Given the description of an element on the screen output the (x, y) to click on. 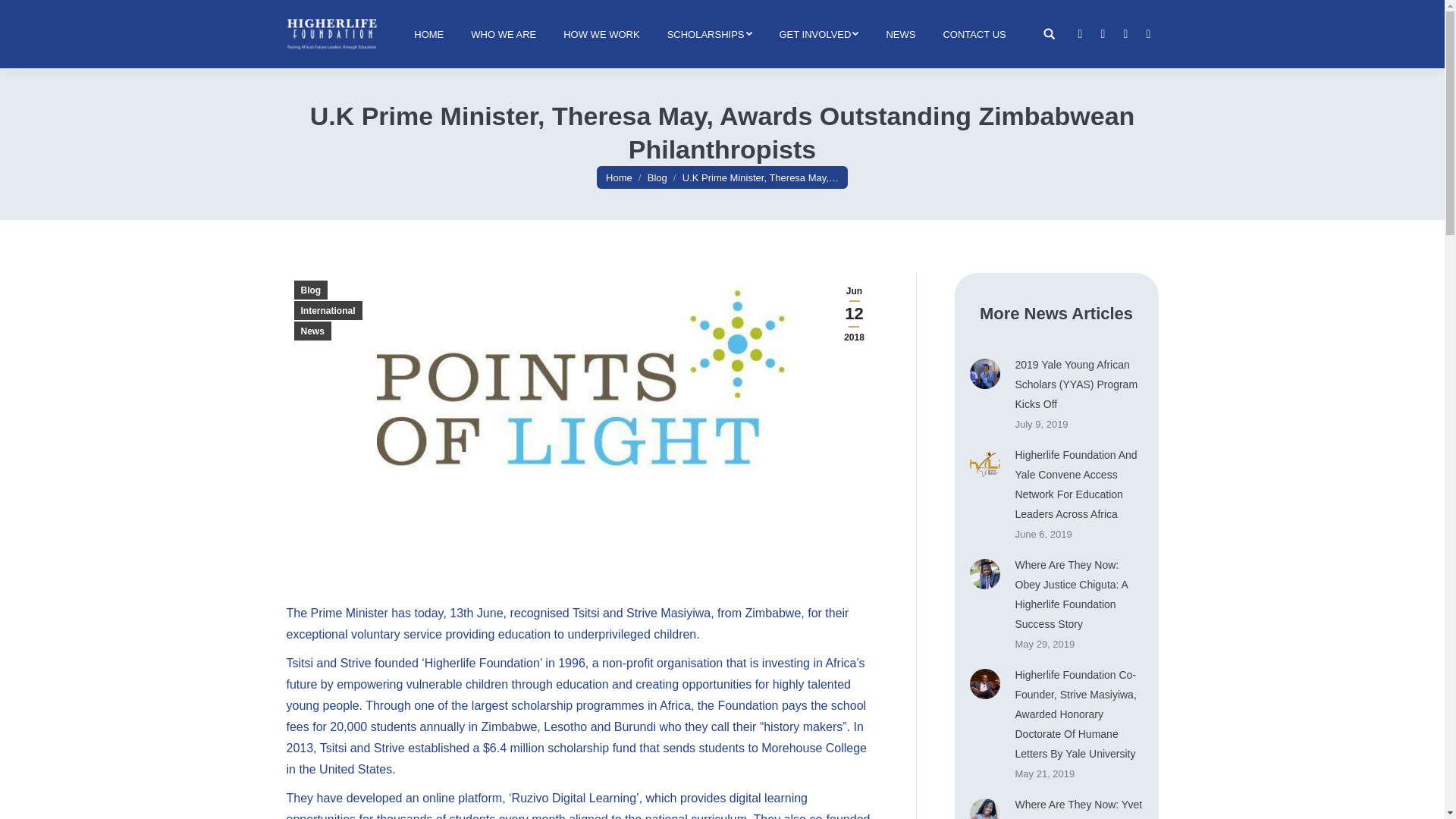
HOW WE WORK (601, 33)
Go! (22, 14)
YouTube (1148, 34)
GET INVOLVED (818, 33)
WHO WE ARE (502, 33)
Twitter (1103, 34)
Instagram (1125, 34)
Instagram (1125, 34)
